Given the description of an element on the screen output the (x, y) to click on. 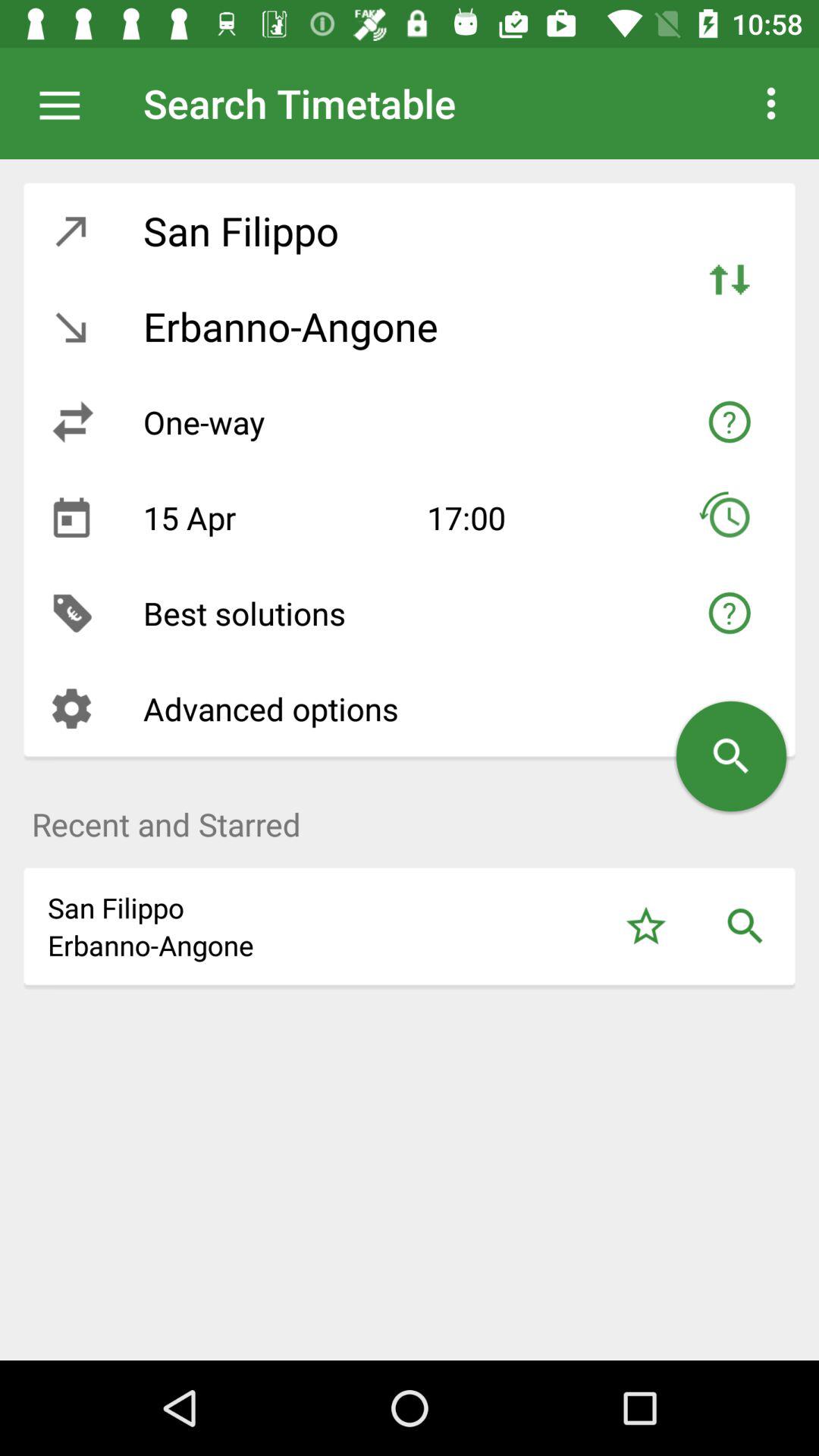
open menu (67, 103)
